Given the description of an element on the screen output the (x, y) to click on. 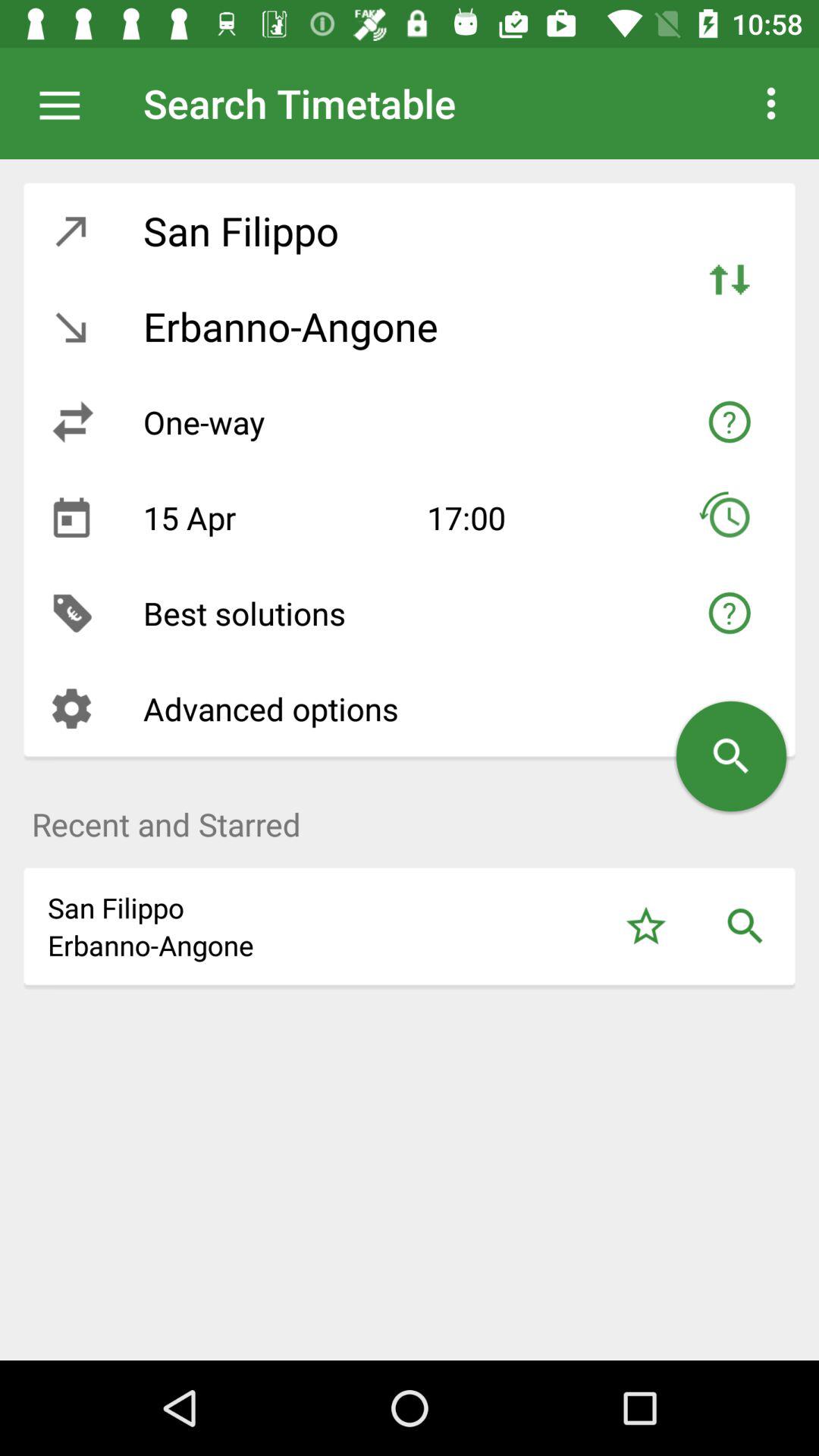
open menu (67, 103)
